Given the description of an element on the screen output the (x, y) to click on. 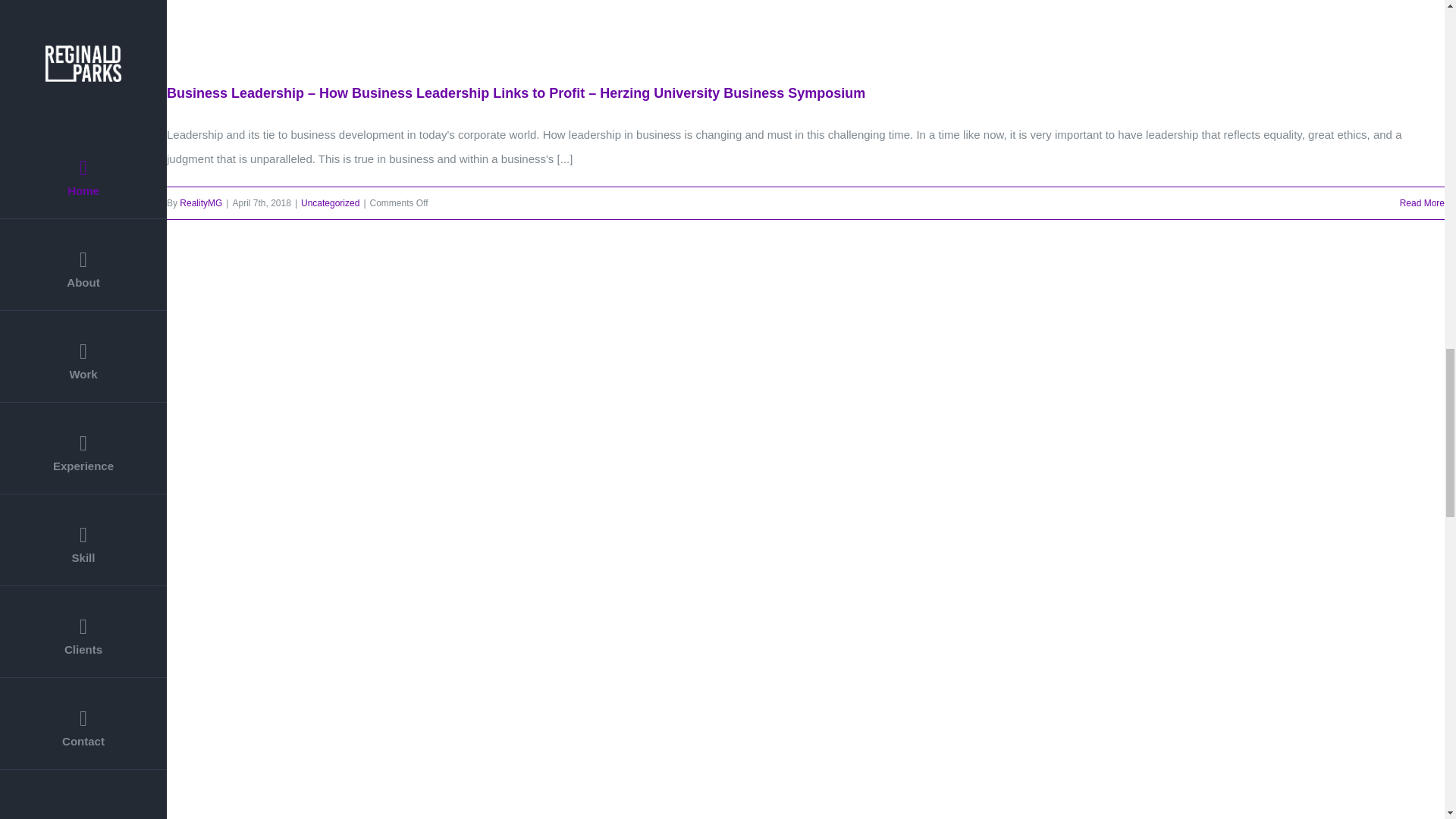
Posts by RealityMG (200, 203)
RealityMG (200, 203)
Uncategorized (330, 203)
